Given the description of an element on the screen output the (x, y) to click on. 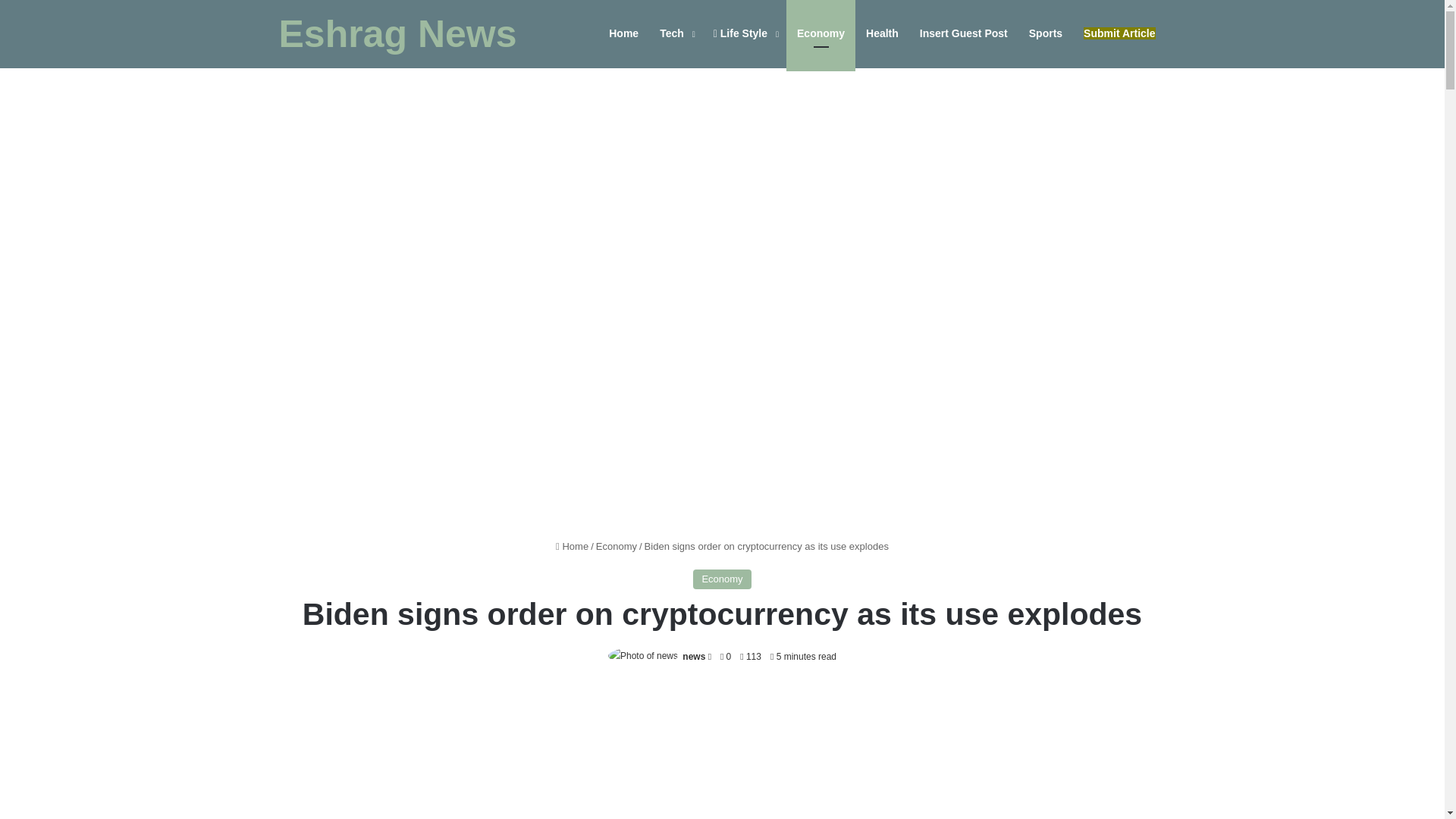
Submit Article (1119, 33)
news (693, 656)
Life Style (744, 33)
Economy (821, 33)
Insert Guest Post (962, 33)
Economy (722, 578)
Eshrag News (397, 34)
Eshrag News (397, 34)
news (693, 656)
Home (572, 546)
Economy (616, 546)
